Given the description of an element on the screen output the (x, y) to click on. 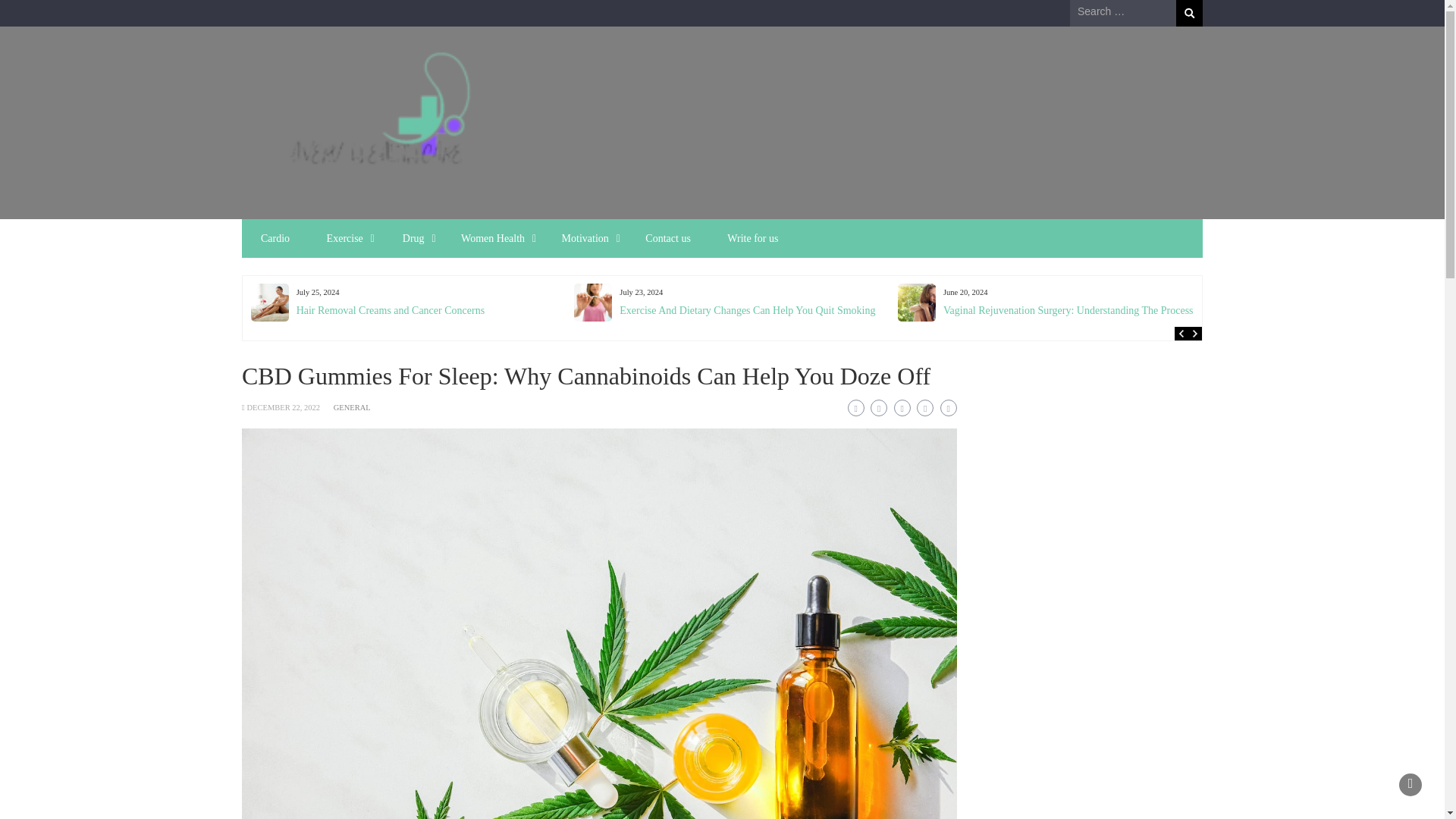
Search (1189, 13)
Exercise (344, 238)
 Drug (411, 238)
Cardio (275, 238)
DECEMBER 22, 2022 (283, 407)
Search for: (1123, 11)
GENERAL (352, 407)
Contact us (668, 238)
Exercise And Dietary Changes Can Help You Quit Smoking (747, 310)
Search (1189, 13)
